Given the description of an element on the screen output the (x, y) to click on. 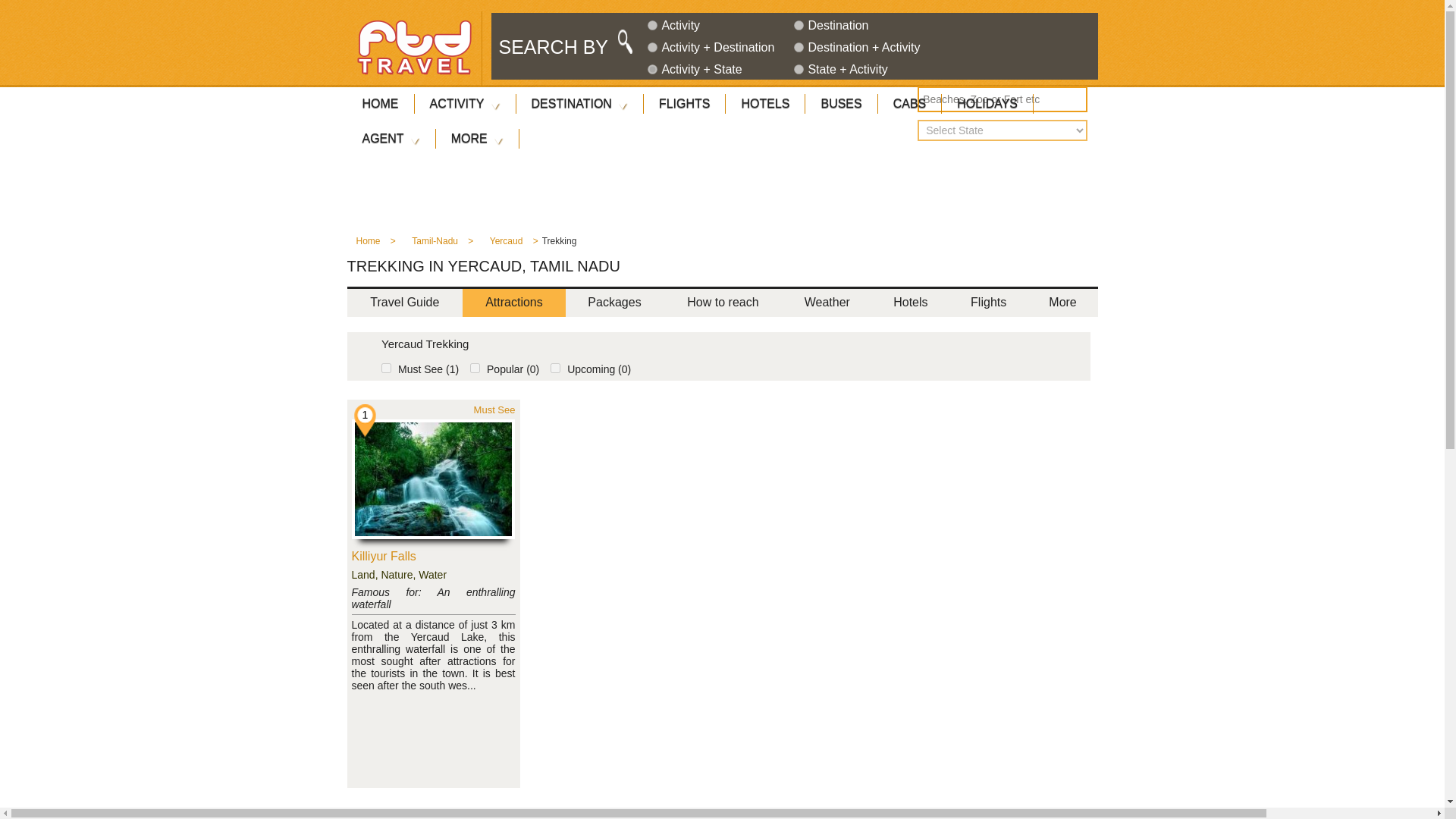
1 (386, 368)
2 (798, 25)
HOTELS (765, 103)
FLIGHTS (684, 103)
3 (652, 47)
Tamil-Nadu (435, 244)
4 (798, 47)
India World Travel Tourism Guide - FTD Travel (414, 47)
5 (798, 69)
1 (652, 25)
